Given the description of an element on the screen output the (x, y) to click on. 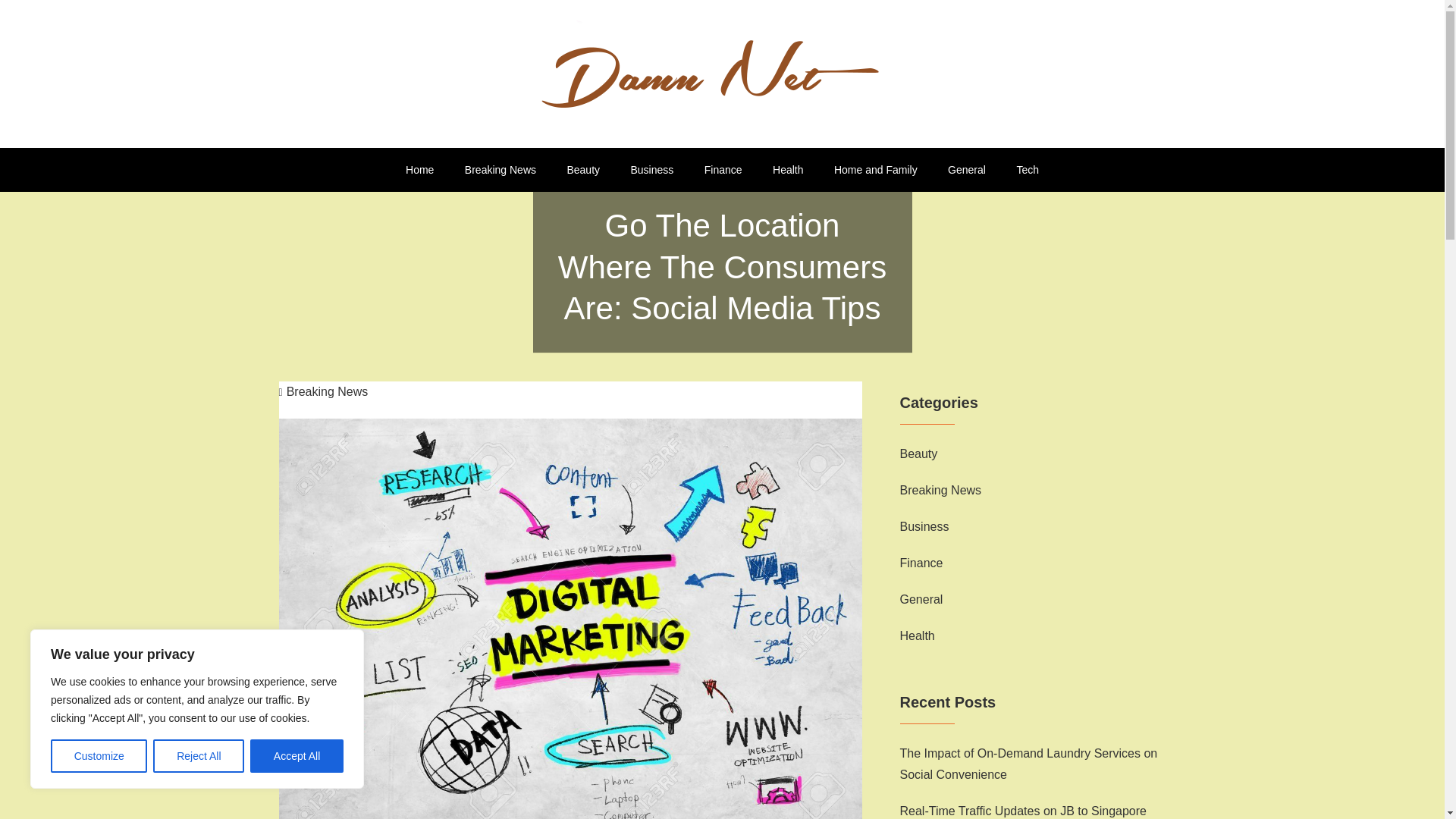
Reject All (198, 756)
Breaking News (323, 391)
Business (924, 526)
Customize (98, 756)
Breaking News (500, 169)
Damn Net (350, 152)
Home and Family (876, 169)
Finance (920, 563)
Health (916, 636)
Accept All (296, 756)
